Given the description of an element on the screen output the (x, y) to click on. 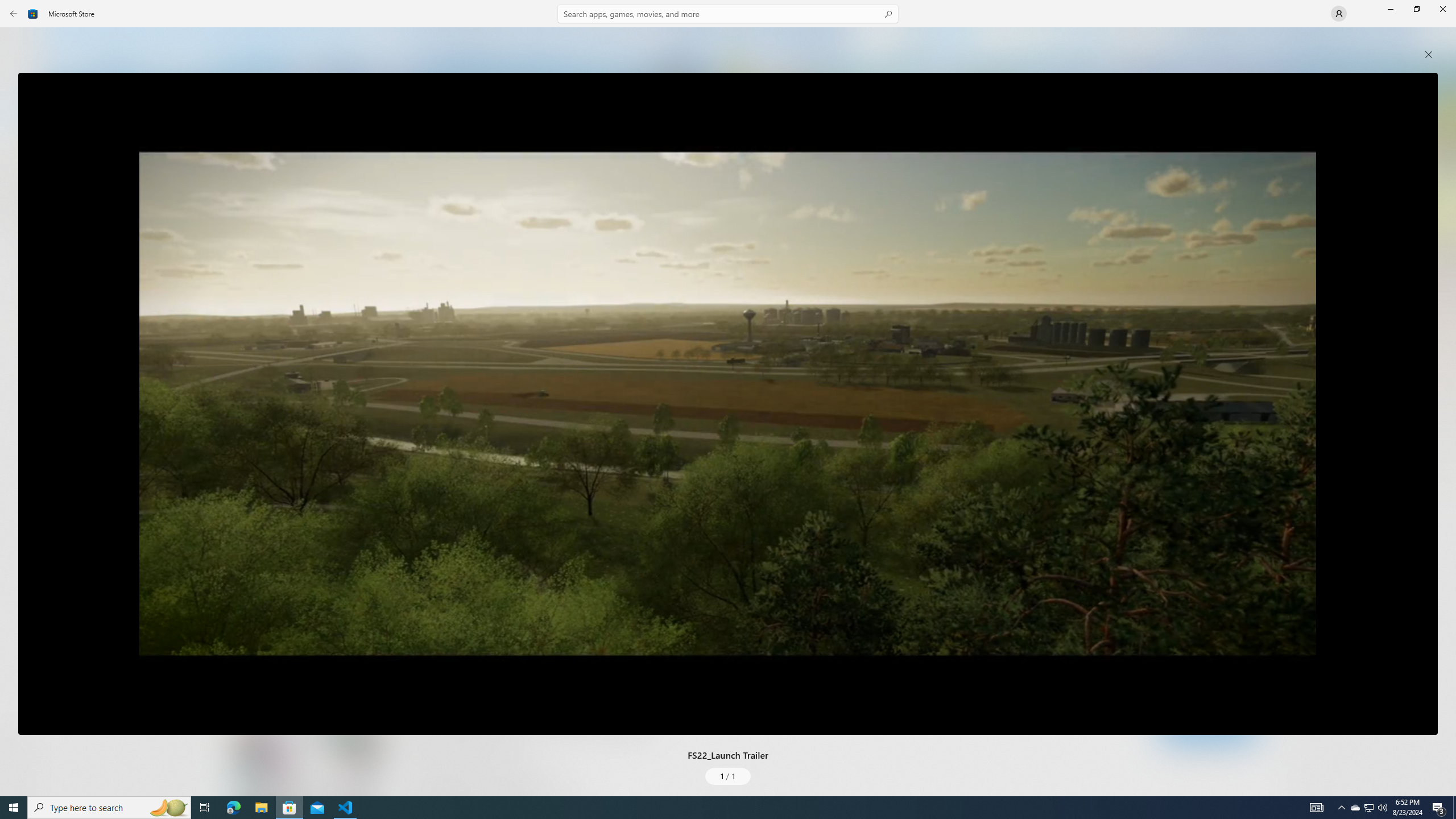
Open Xbox App (1207, 753)
Explore PC Game Pass (1207, 728)
Back (13, 13)
Buy as gift (1245, 669)
Play Trailer (287, 575)
Age rating: EVERYONE. Click for more information. (537, 538)
AutomationID: NavigationControl (728, 398)
